Given the description of an element on the screen output the (x, y) to click on. 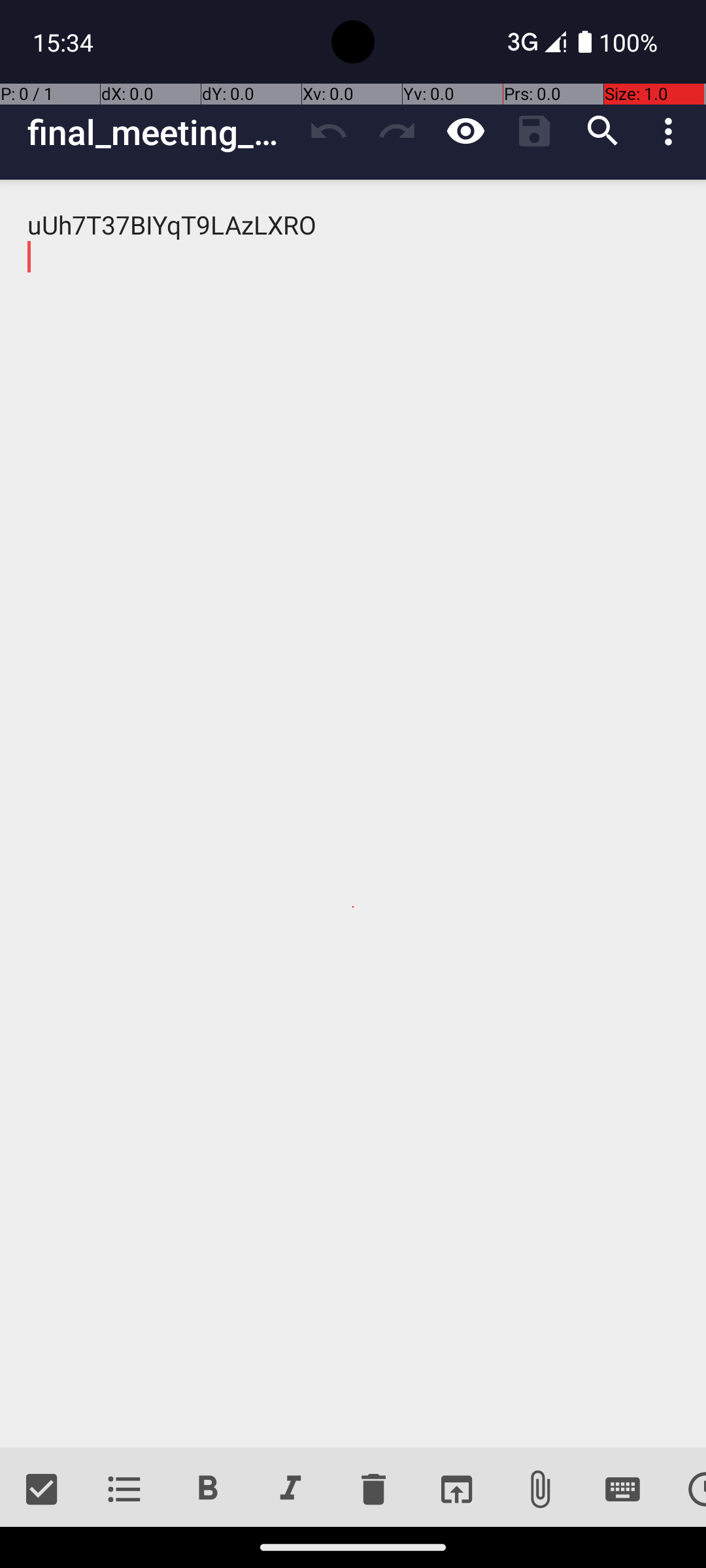
final_meeting_notes_project_team Element type: android.widget.TextView (160, 131)
uUh7T37BIYqT9LAzLXRO
 Element type: android.widget.EditText (353, 813)
